Given the description of an element on the screen output the (x, y) to click on. 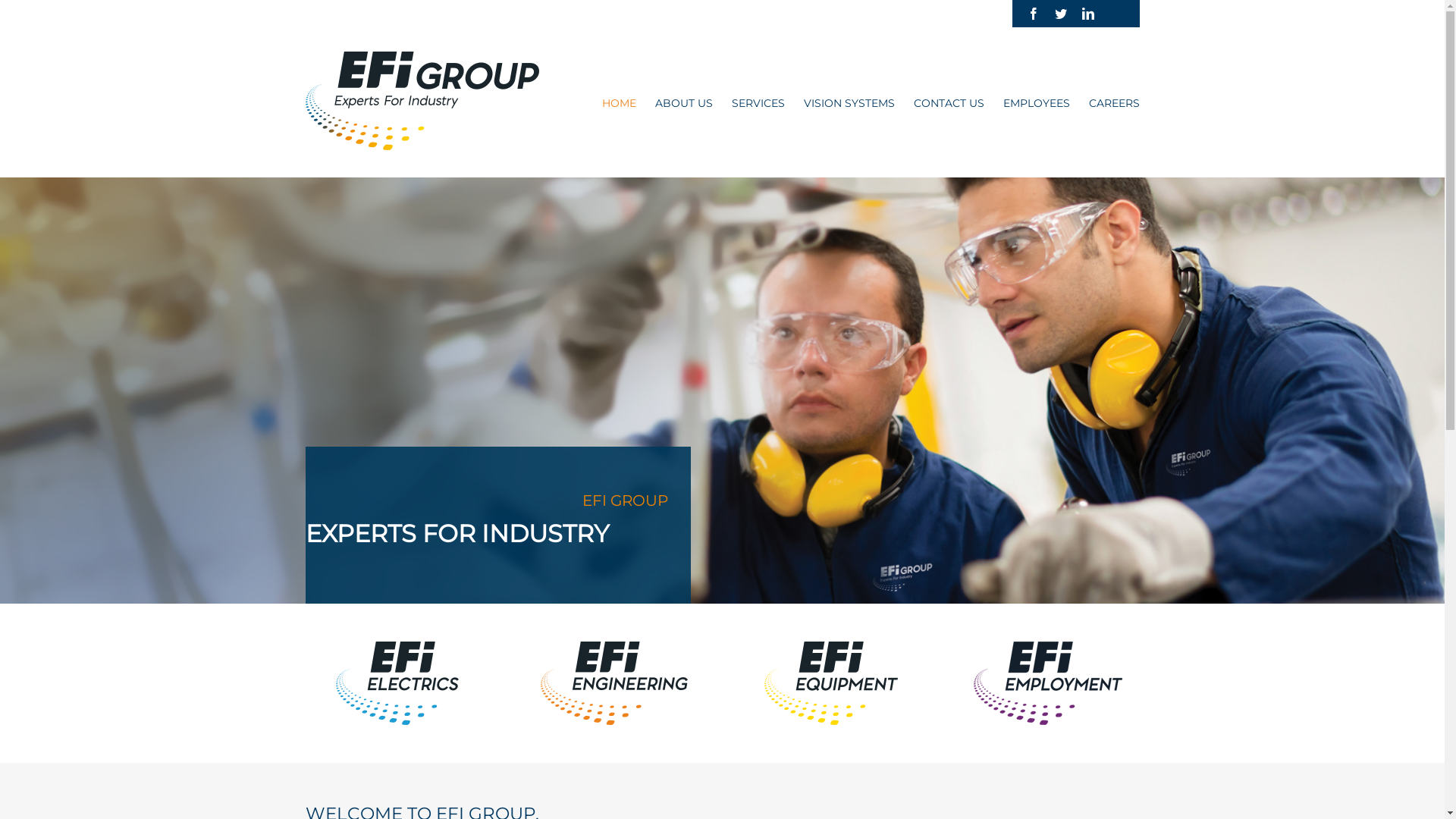
VISION SYSTEMS Element type: text (848, 102)
SERVICES Element type: text (757, 102)
ABOUT US Element type: text (683, 102)
HOME Element type: text (619, 102)
Twitter Element type: text (1060, 13)
CAREERS Element type: text (1113, 102)
CONTACT US Element type: text (948, 102)
Facebook Element type: text (1032, 13)
Linkedin Element type: text (1087, 13)
EMPLOYEES Element type: text (1035, 102)
